Given the description of an element on the screen output the (x, y) to click on. 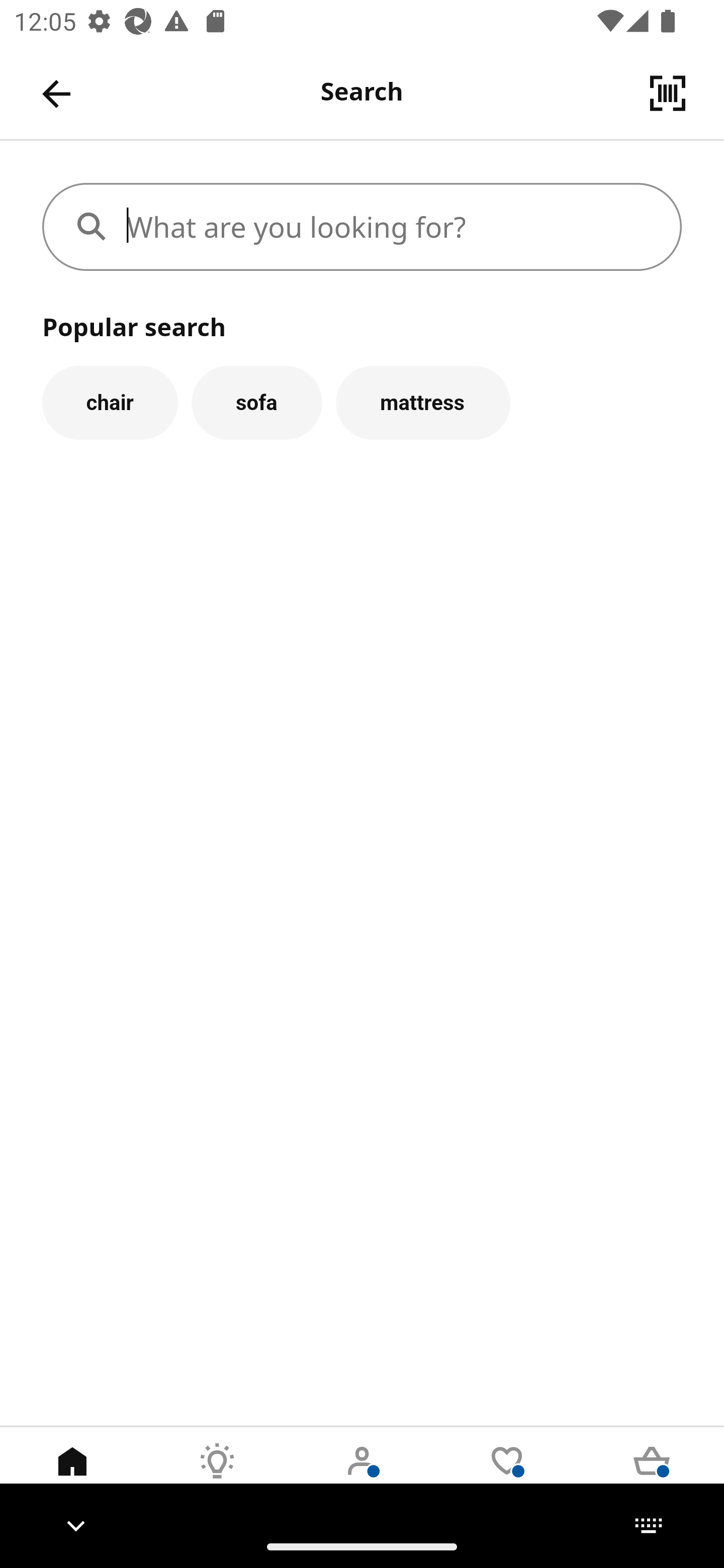
chair (109, 402)
sofa (256, 402)
mattress (423, 402)
Home
Tab 1 of 5 (72, 1476)
Inspirations
Tab 2 of 5 (216, 1476)
User
Tab 3 of 5 (361, 1476)
Wishlist
Tab 4 of 5 (506, 1476)
Cart
Tab 5 of 5 (651, 1476)
